Given the description of an element on the screen output the (x, y) to click on. 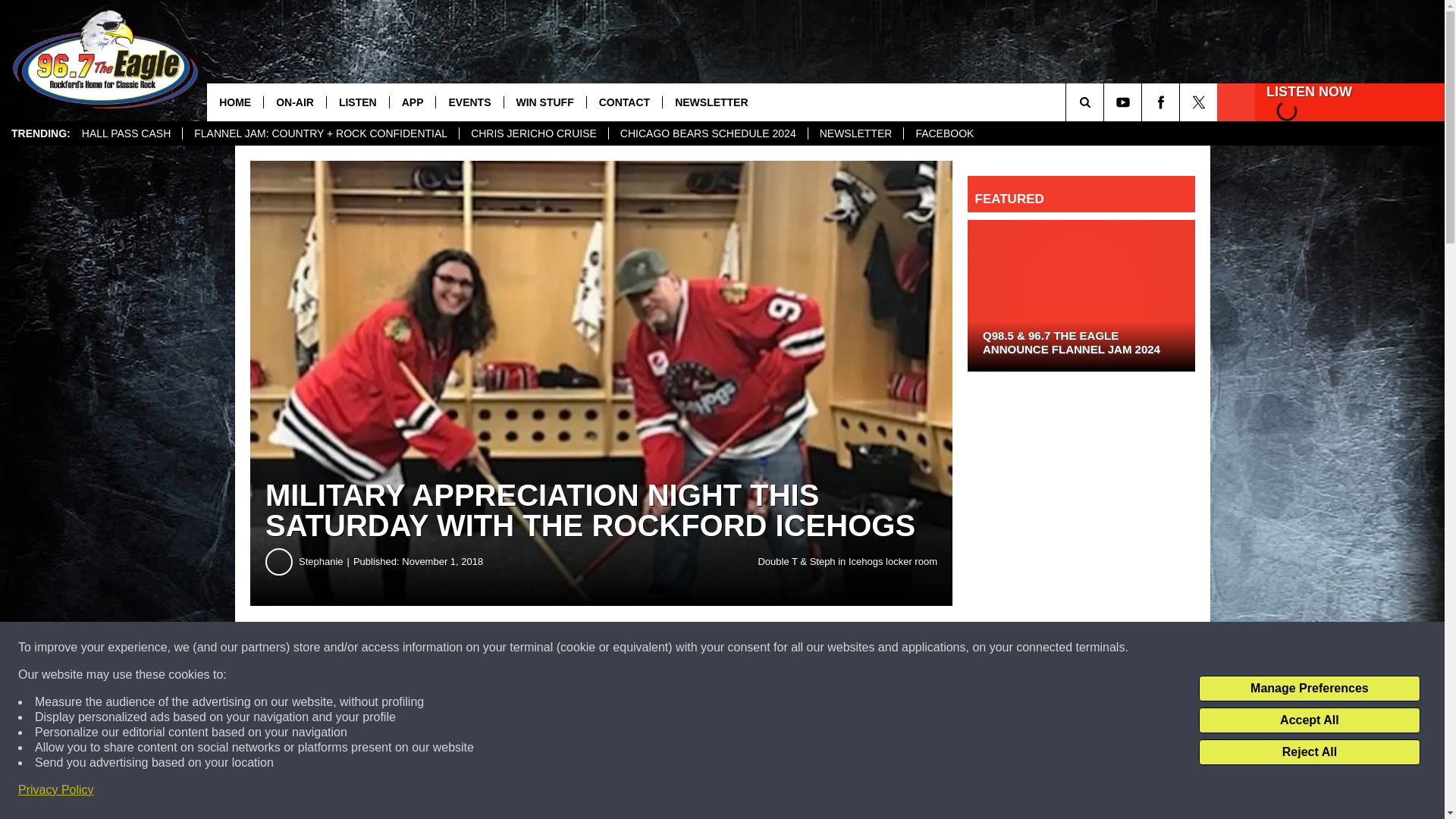
HALL PASS CASH (126, 133)
NEWSLETTER (856, 133)
EVENTS (468, 102)
WIN STUFF (544, 102)
FACEBOOK (943, 133)
CHRIS JERICHO CRUISE (533, 133)
Privacy Policy (55, 789)
SEARCH (1106, 102)
LISTEN (357, 102)
Share on Twitter (741, 647)
